Given the description of an element on the screen output the (x, y) to click on. 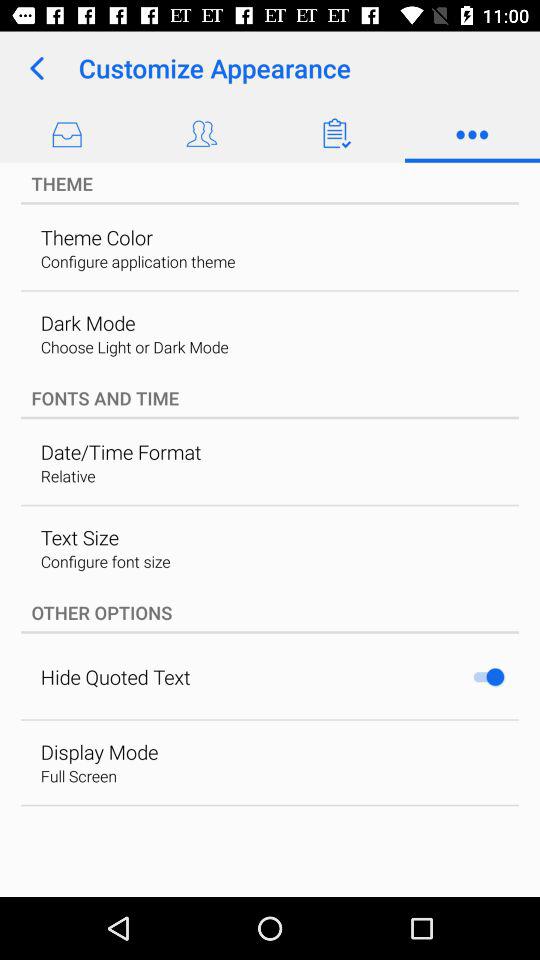
choose the icon below fonts and time (120, 451)
